Given the description of an element on the screen output the (x, y) to click on. 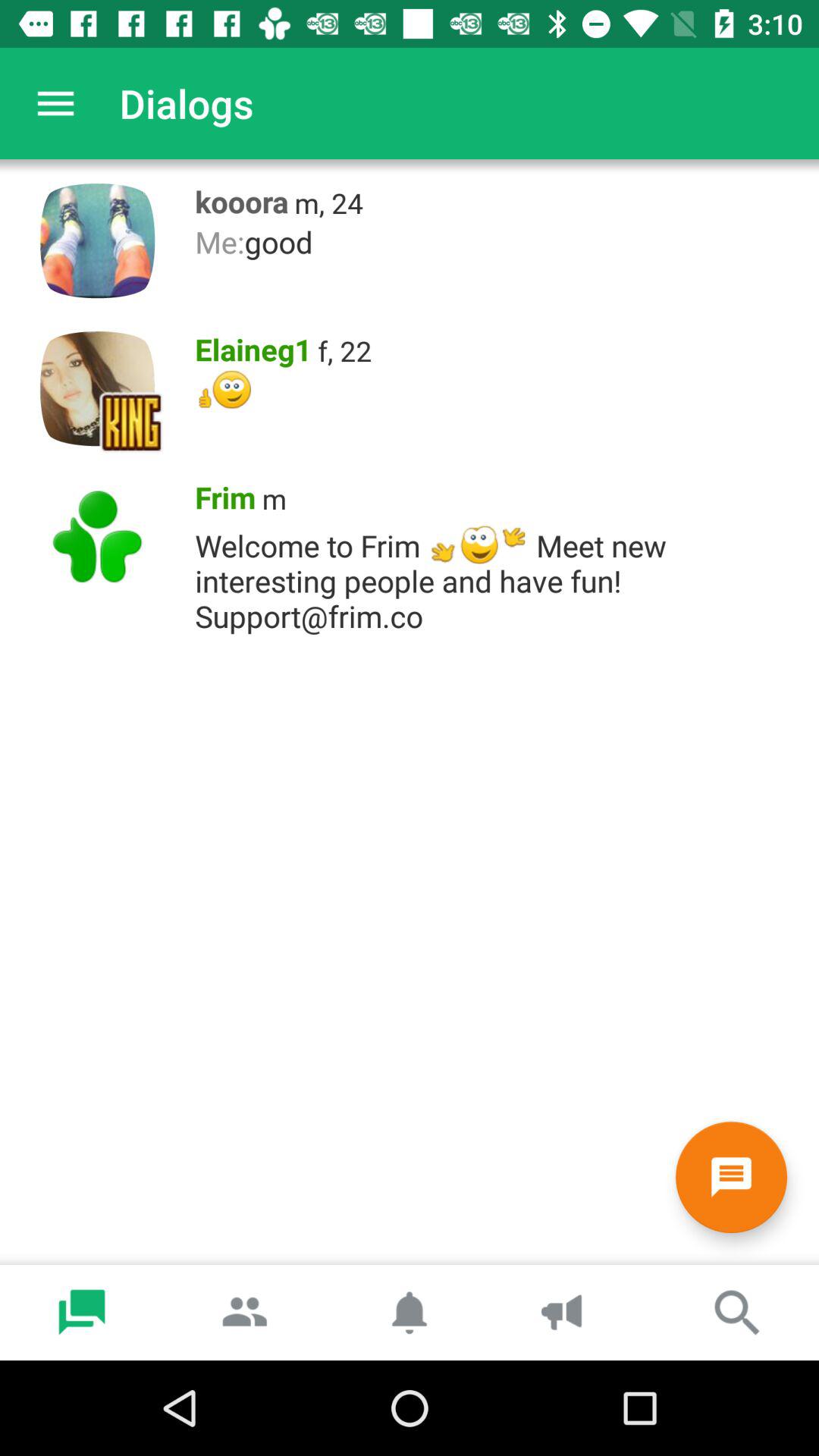
turn on icon below dialogs icon (236, 198)
